Given the description of an element on the screen output the (x, y) to click on. 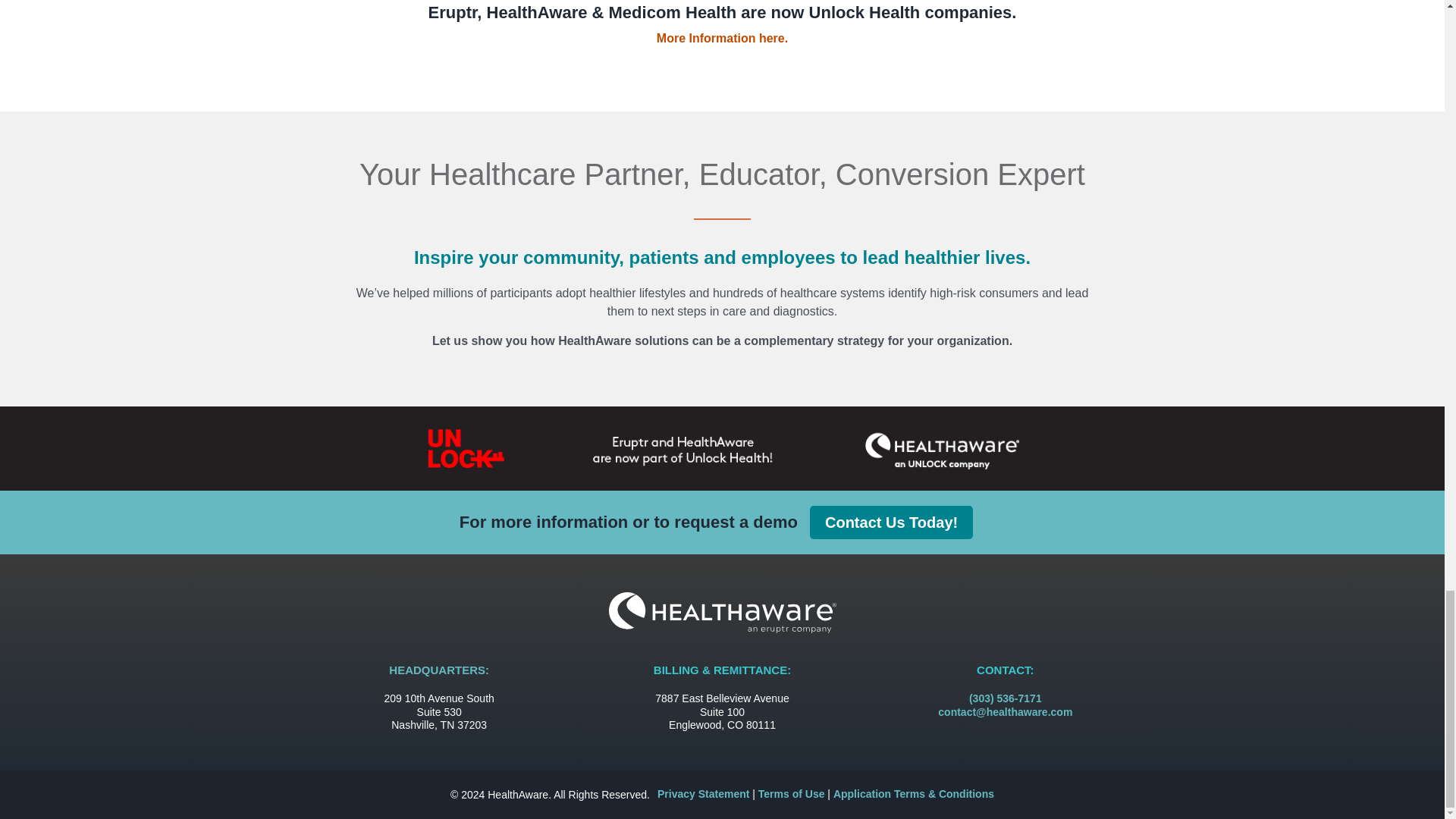
More Information here. (721, 38)
Privacy Statement (703, 793)
Terms of Use (791, 793)
Contact Us Today! (890, 522)
